Given the description of an element on the screen output the (x, y) to click on. 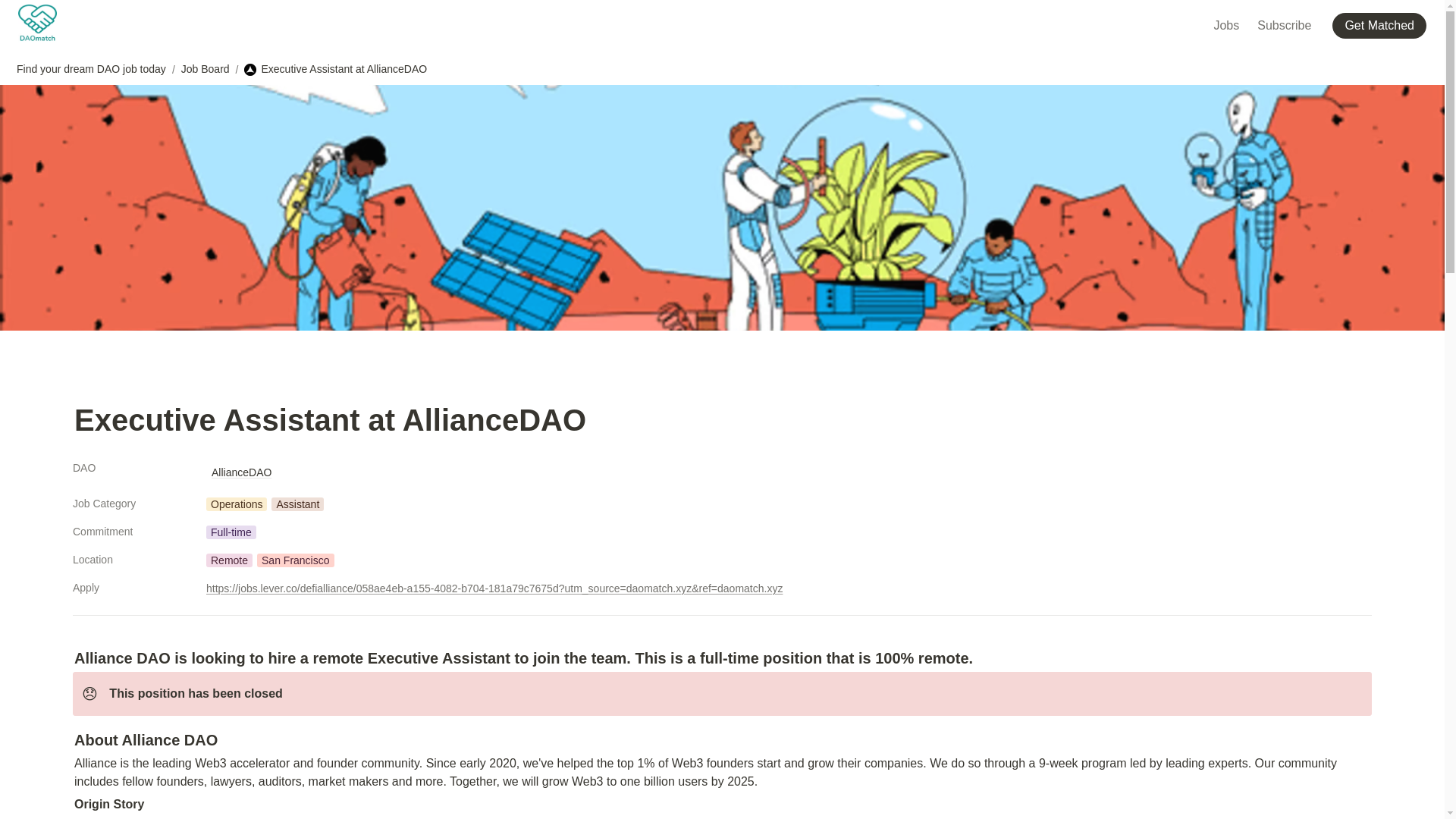
Find your dream DAO job today (90, 69)
AllianceDAO (241, 472)
Subscribe (1283, 24)
Job Board (205, 69)
Get Matched (1382, 24)
Jobs (1225, 24)
Executive Assistant at AllianceDAO (335, 69)
